Given the description of an element on the screen output the (x, y) to click on. 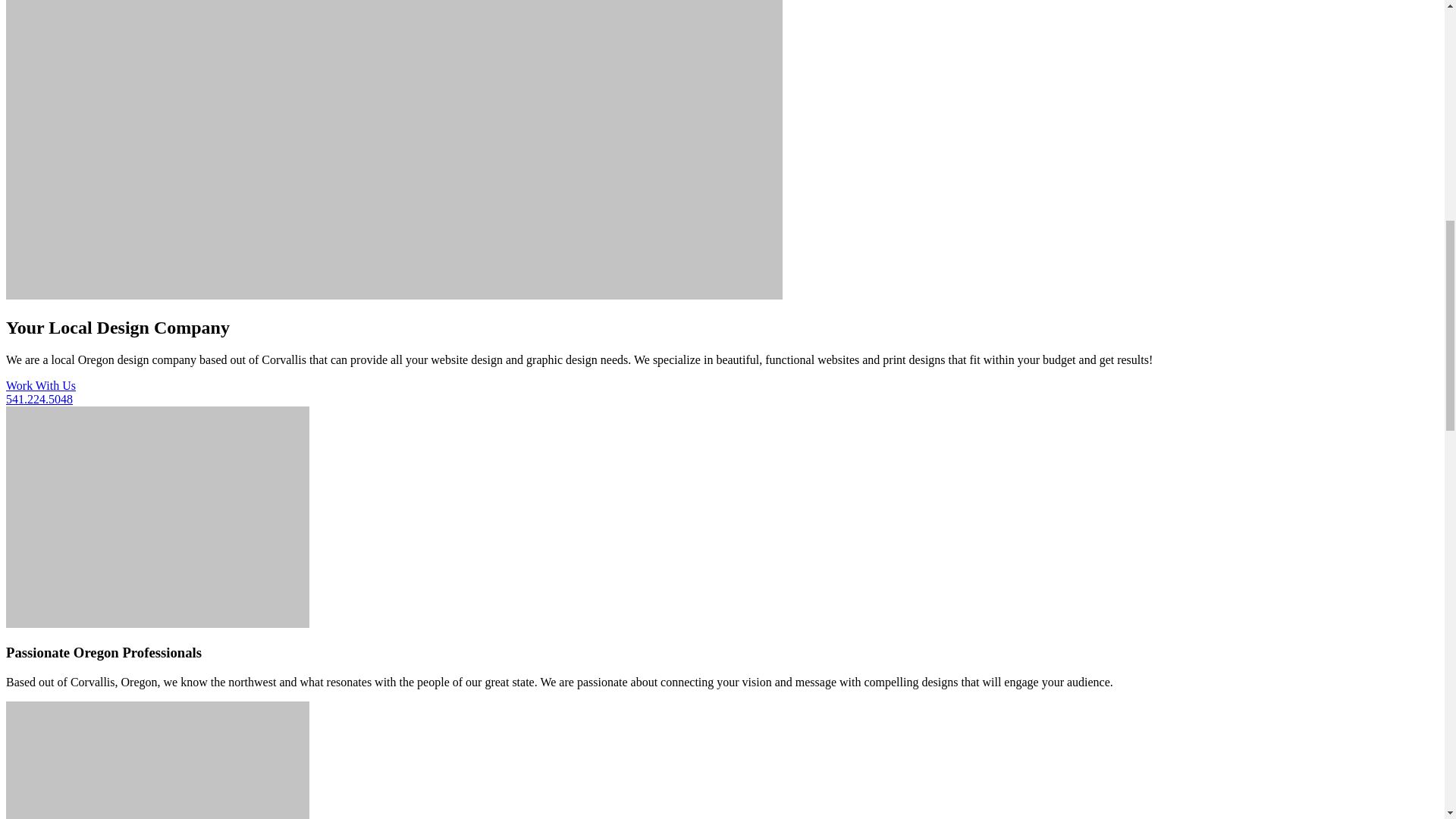
541.224.5048 (38, 399)
Work With Us (40, 385)
